Given the description of an element on the screen output the (x, y) to click on. 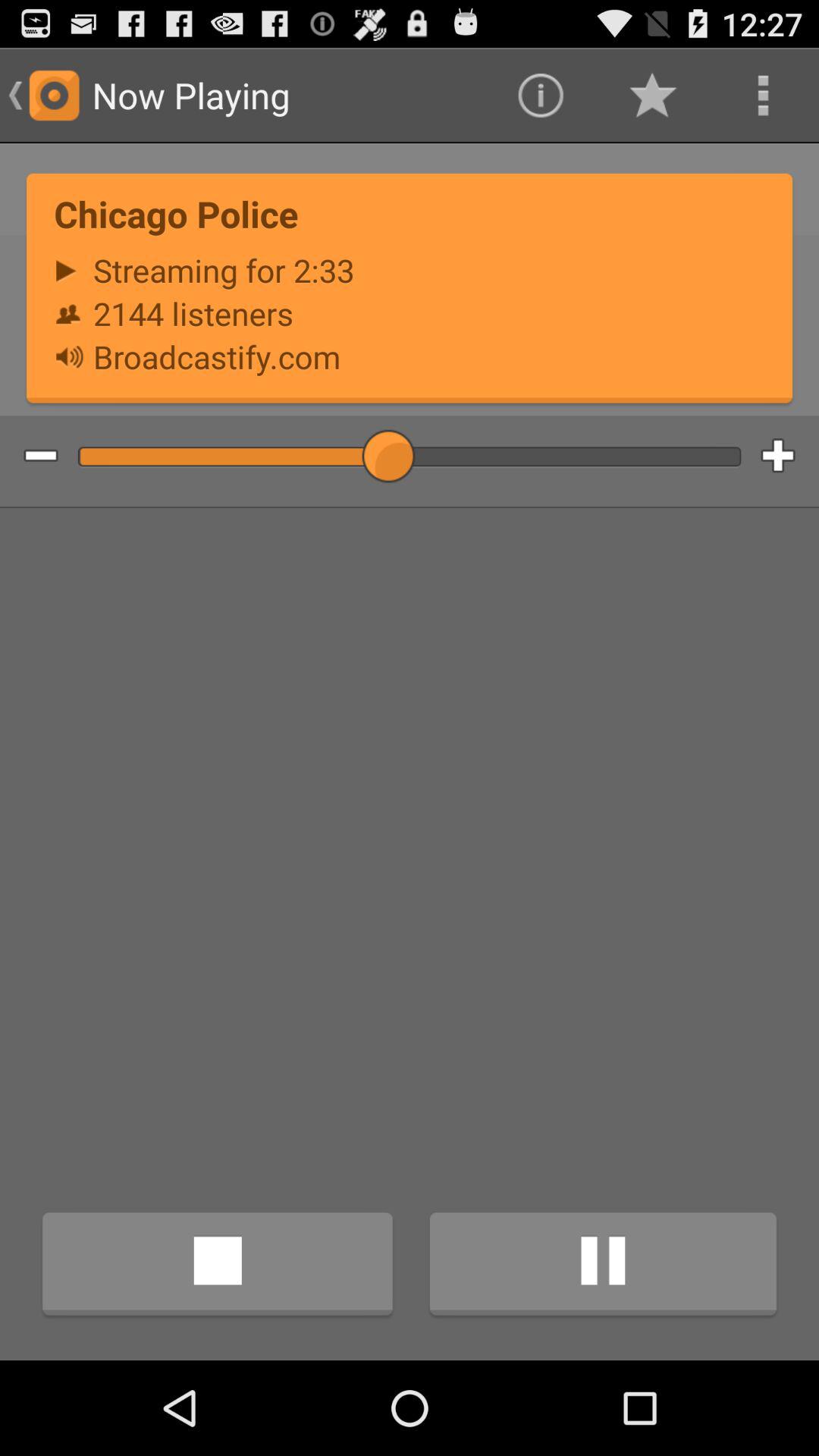
turn off icon at the bottom right corner (603, 1266)
